Given the description of an element on the screen output the (x, y) to click on. 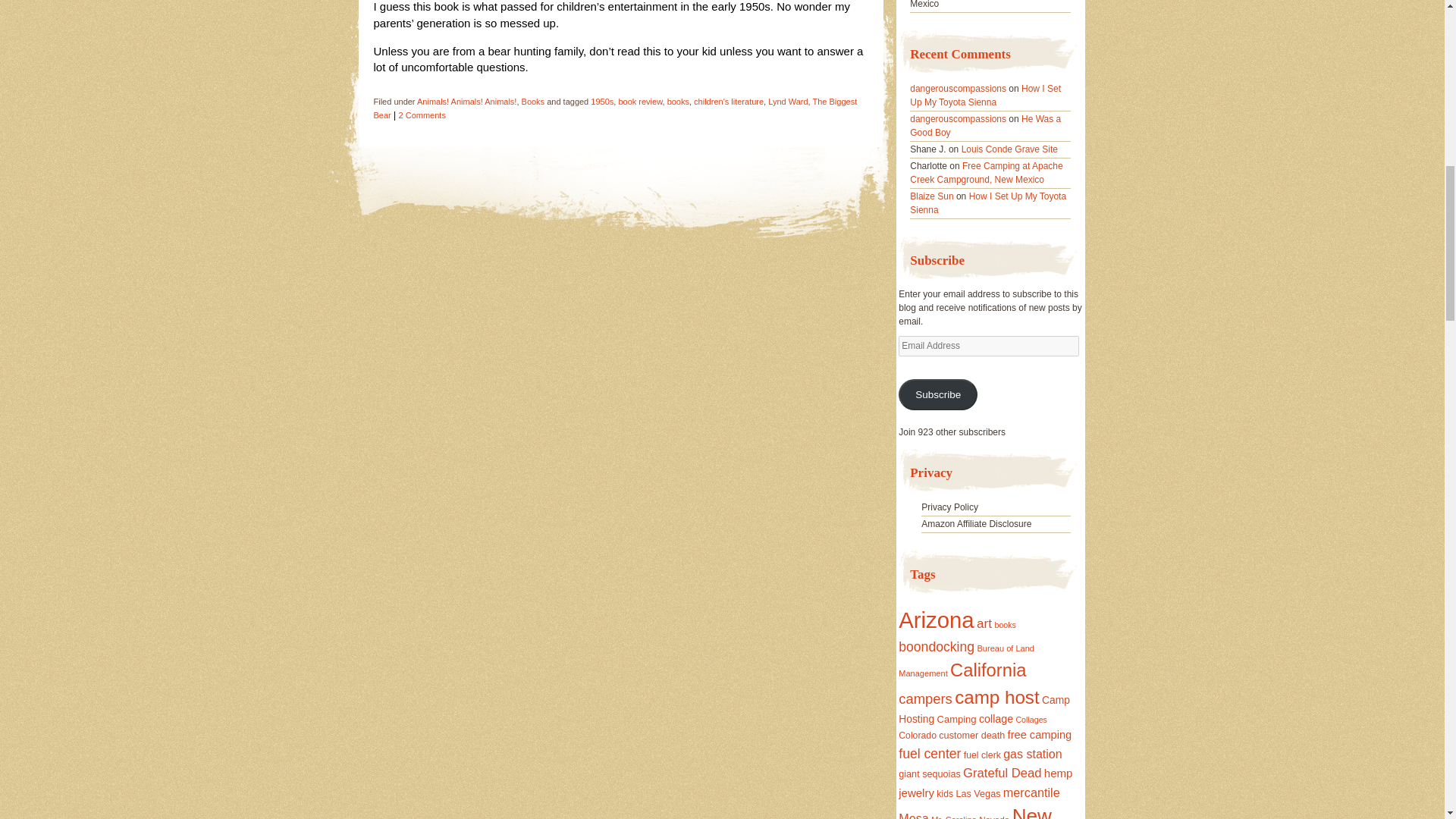
How I Set Up My Toyota Sienna (985, 95)
dangerouscompassions (958, 88)
book review (639, 101)
1950s (601, 101)
2 Comments (421, 114)
dangerouscompassions (958, 118)
Books (532, 101)
books (677, 101)
children's literature (728, 101)
Animals! Animals! Animals! (466, 101)
The Biggest Bear (614, 108)
Lynd Ward (788, 101)
